Given the description of an element on the screen output the (x, y) to click on. 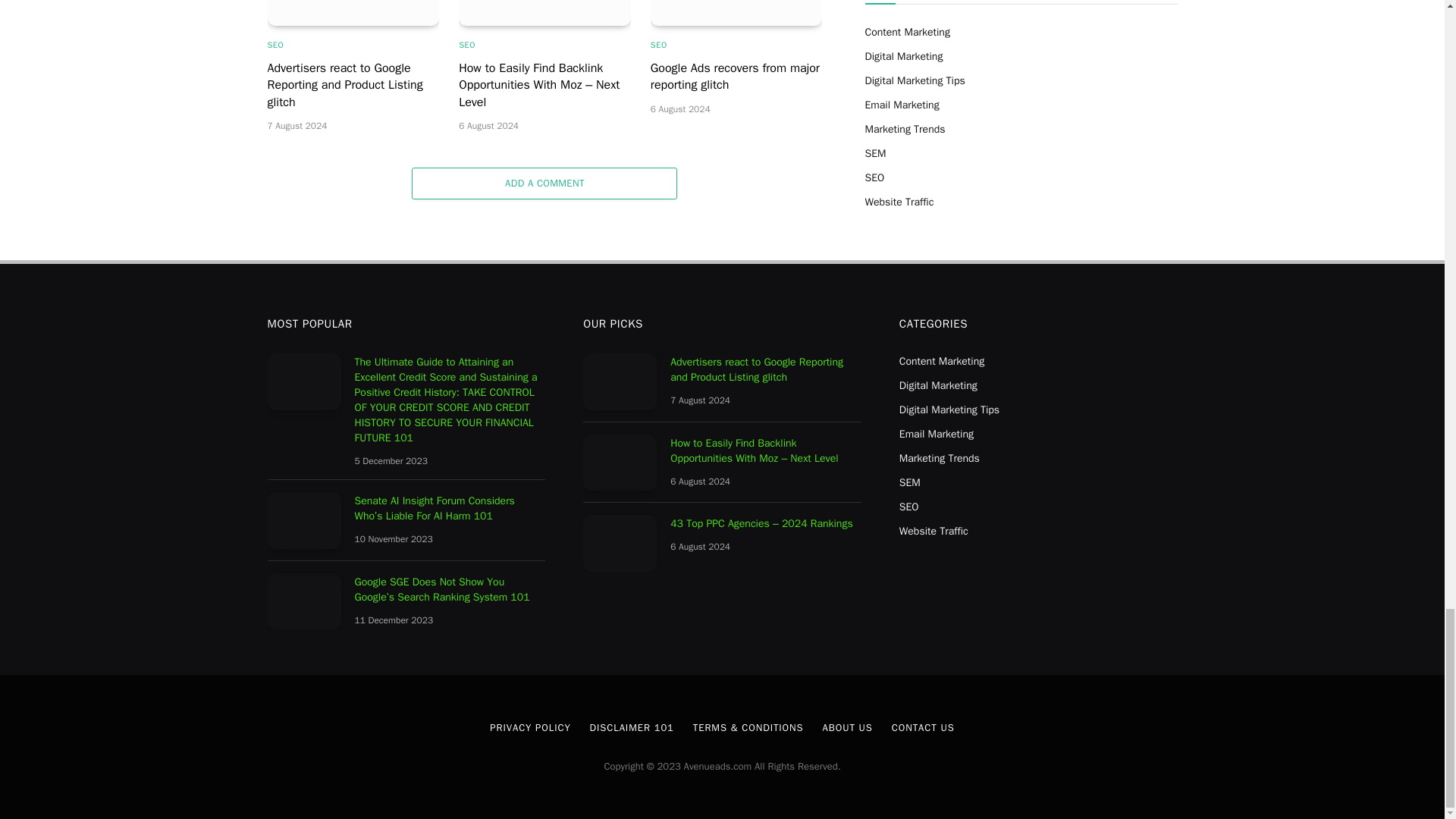
SEO (274, 44)
Google Ads recovers from major reporting glitch (736, 12)
SEO (467, 44)
